Given the description of an element on the screen output the (x, y) to click on. 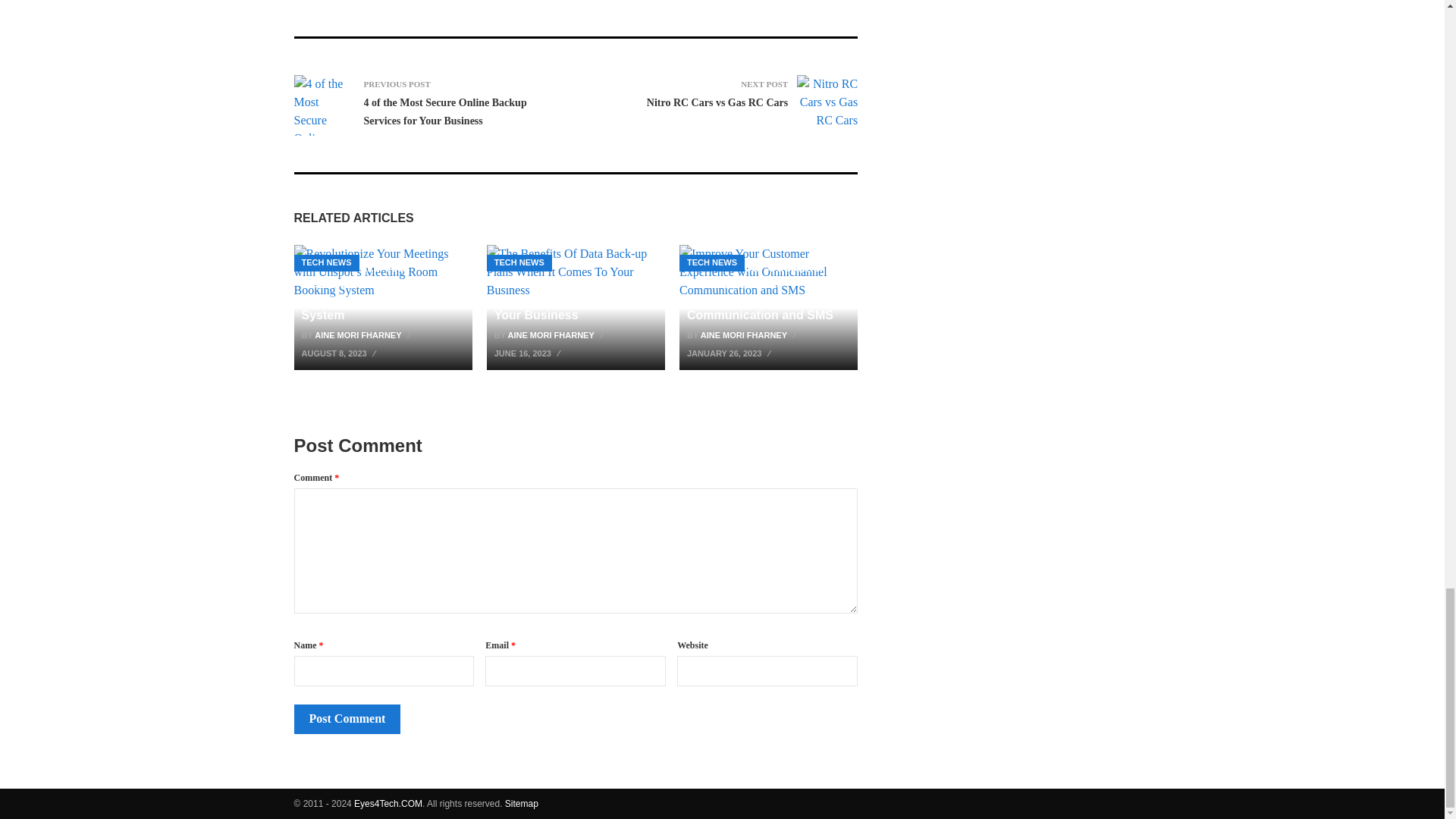
Thursday, January 26, 2023, 4:19 pm (730, 352)
Friday, June 16, 2023, 7:45 pm (529, 352)
Post Comment (347, 718)
Tuesday, August 8, 2023, 4:47 pm (340, 352)
